Given the description of an element on the screen output the (x, y) to click on. 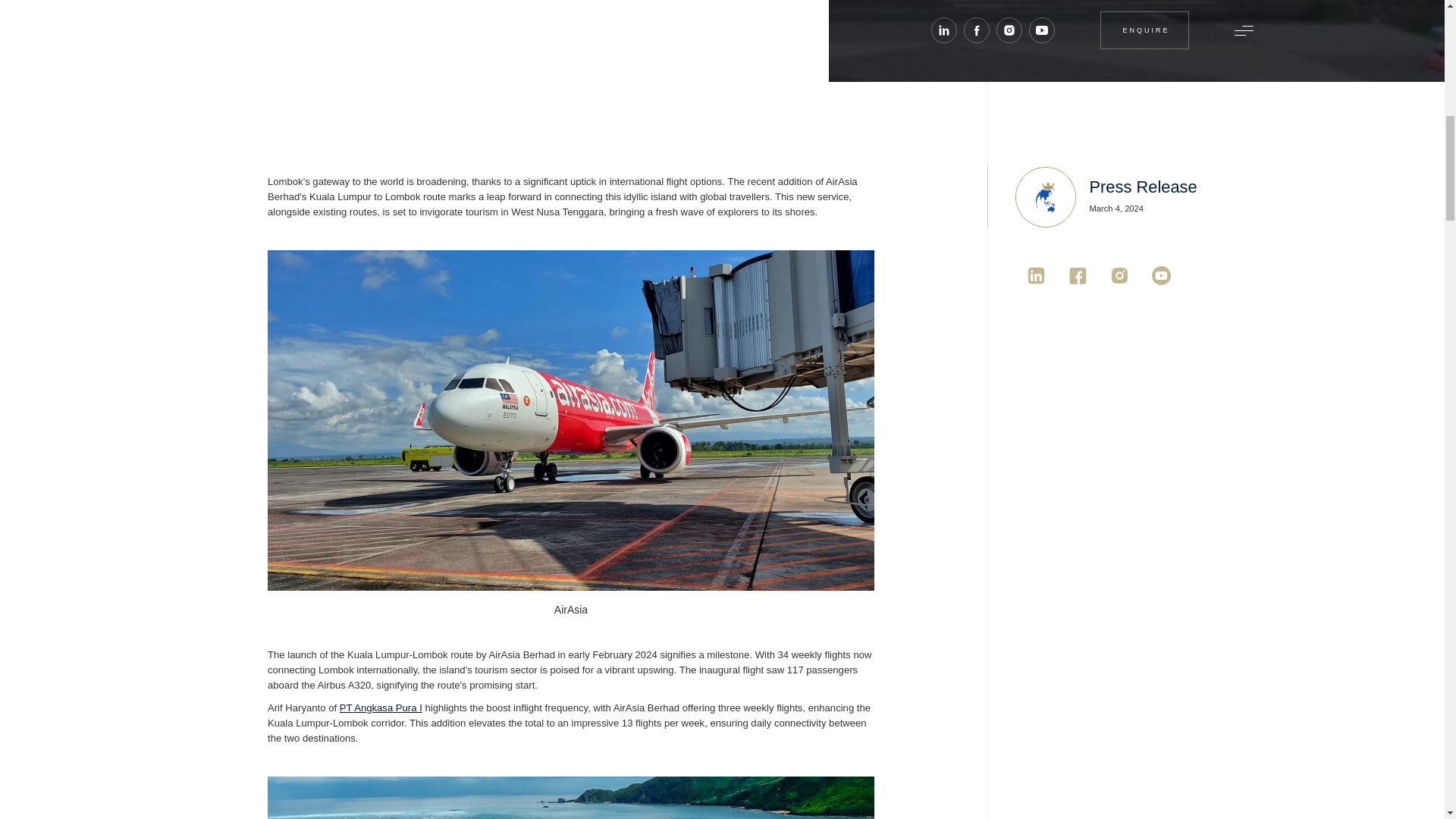
PT Angkasa Pura I (380, 707)
